Given the description of an element on the screen output the (x, y) to click on. 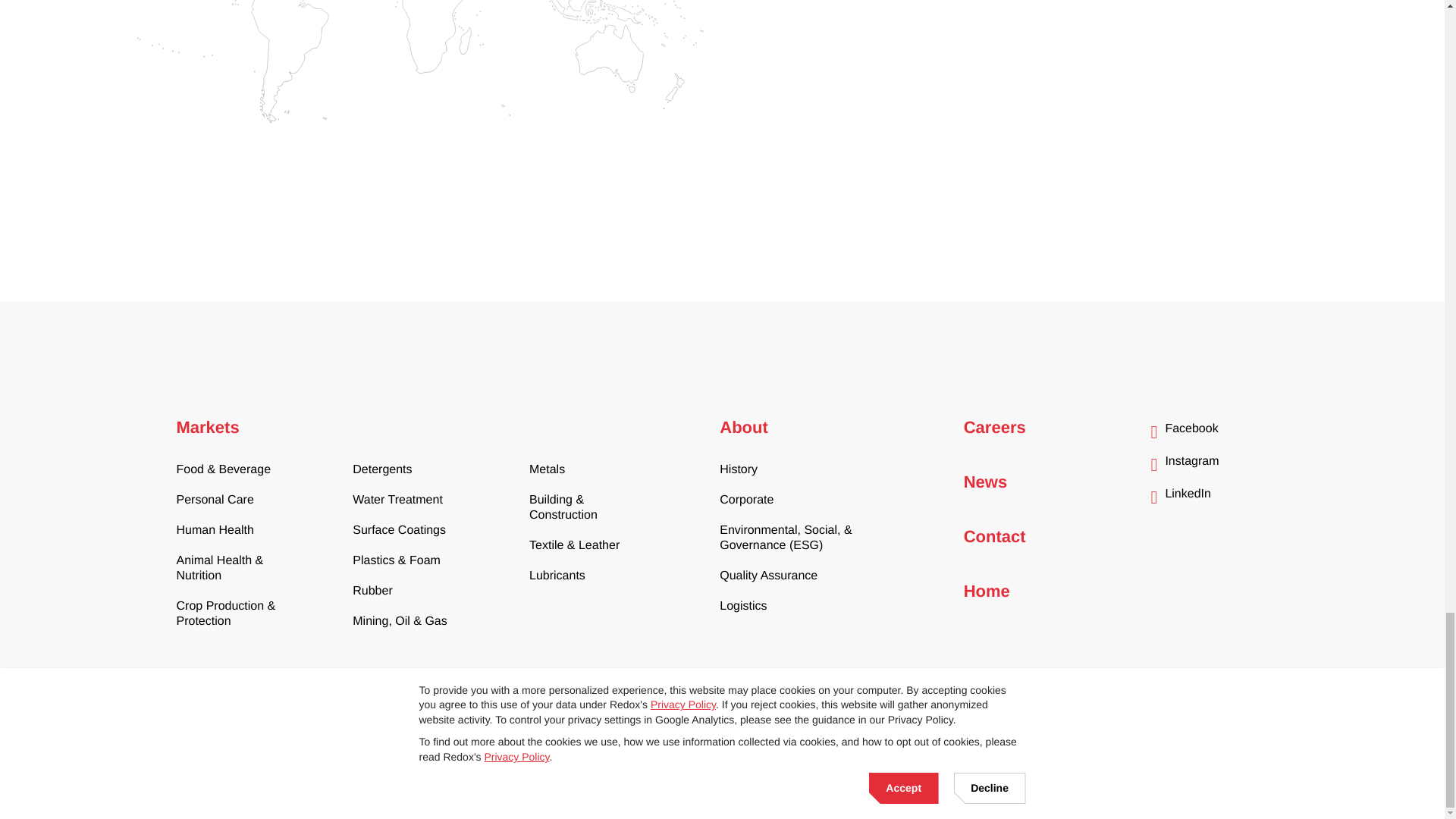
Redox Homepage (236, 697)
